Given the description of an element on the screen output the (x, y) to click on. 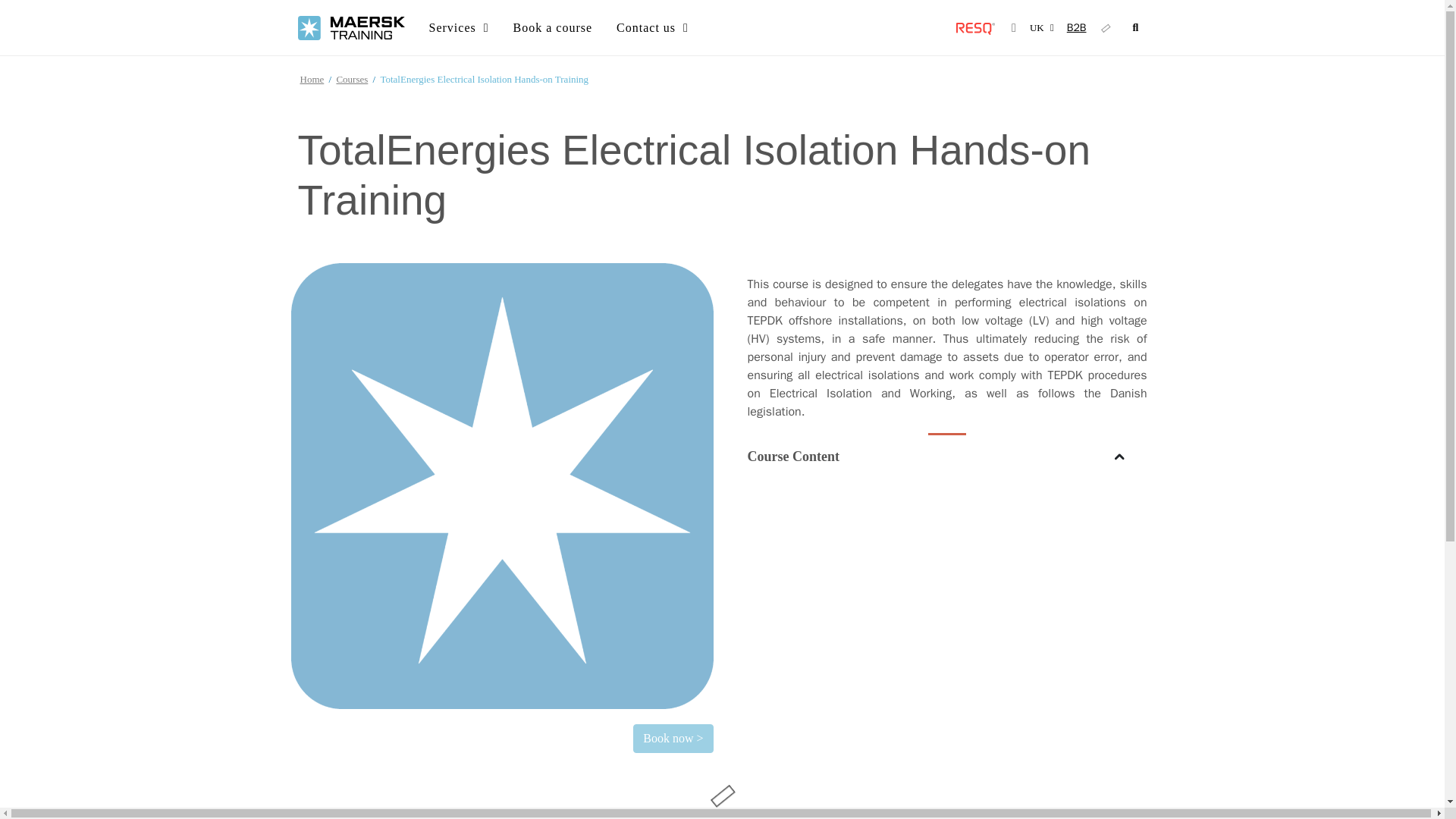
Book a course (552, 27)
Services (458, 27)
Contact us (652, 27)
